Given the description of an element on the screen output the (x, y) to click on. 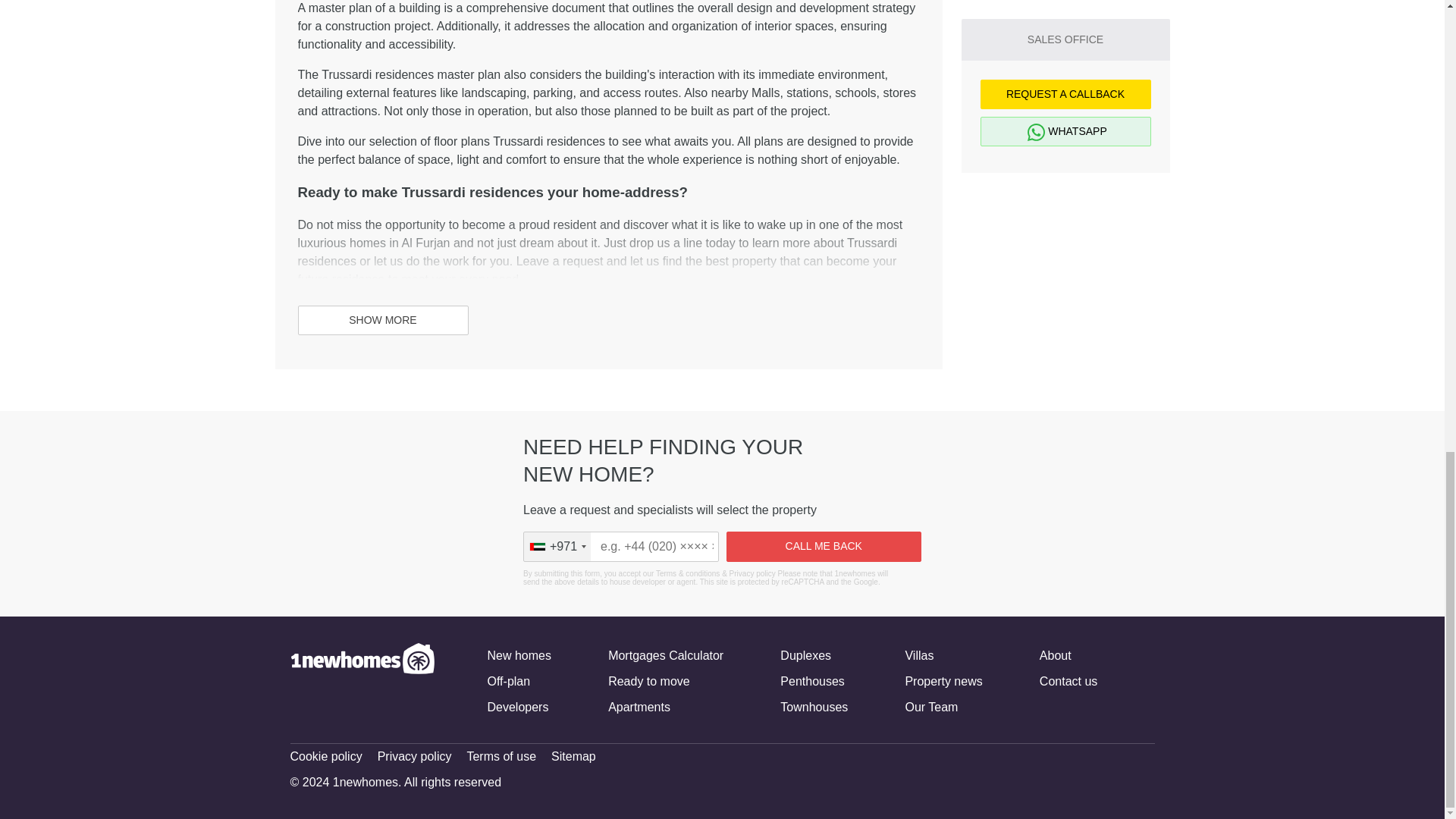
Our Team (931, 707)
Apartments (638, 707)
Privacy policy (414, 756)
Property news (942, 681)
Terms of use (500, 756)
Penthouses (812, 681)
New homes (518, 655)
Cookie policy (325, 756)
CALL ME BACK (823, 546)
Mortgages Calculator (665, 655)
